Given the description of an element on the screen output the (x, y) to click on. 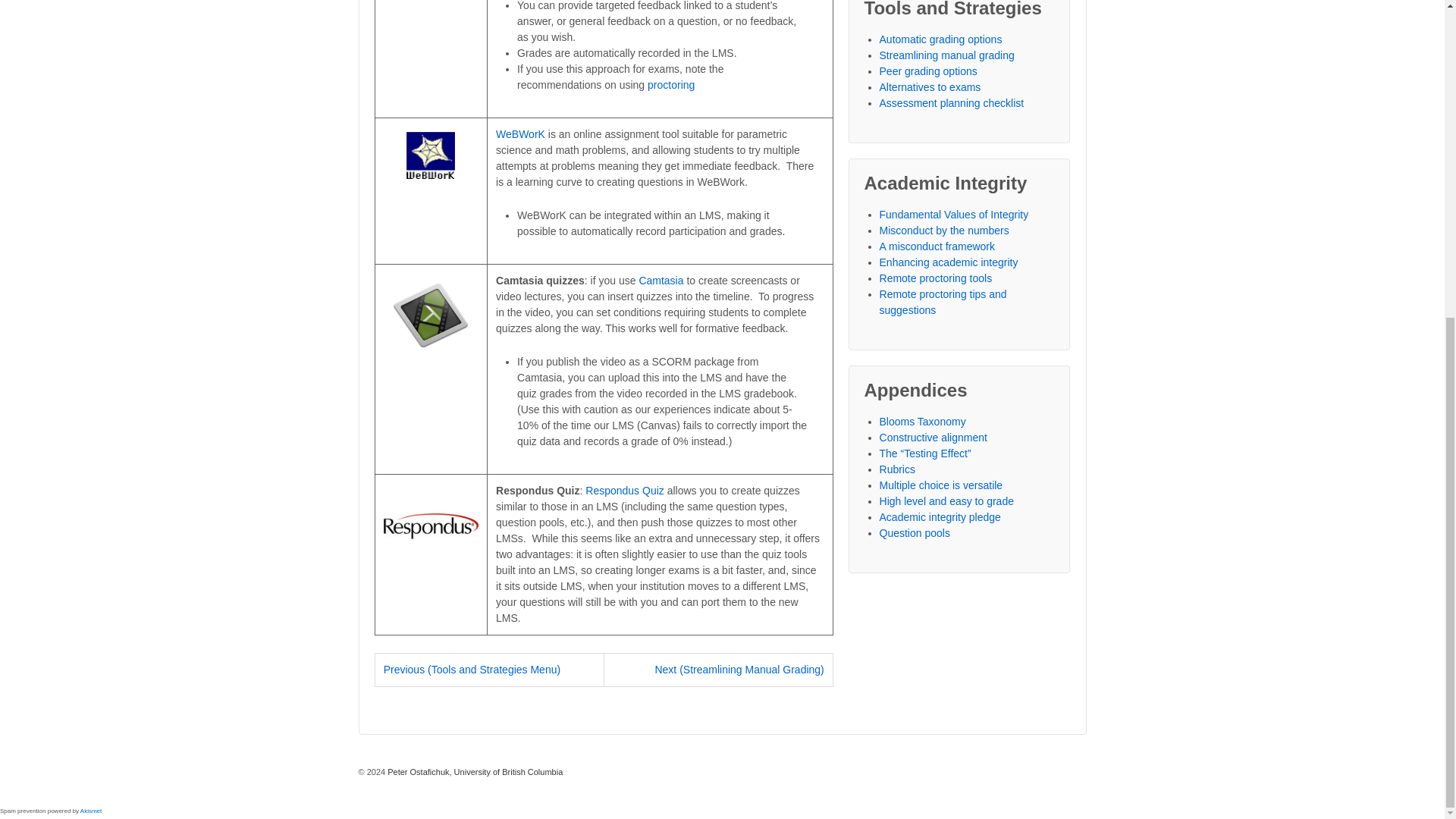
proctoring (670, 84)
Camtasia (660, 280)
WeBWorK (520, 133)
Respondus Quiz (624, 490)
Assessment Guidebook (473, 771)
